Given the description of an element on the screen output the (x, y) to click on. 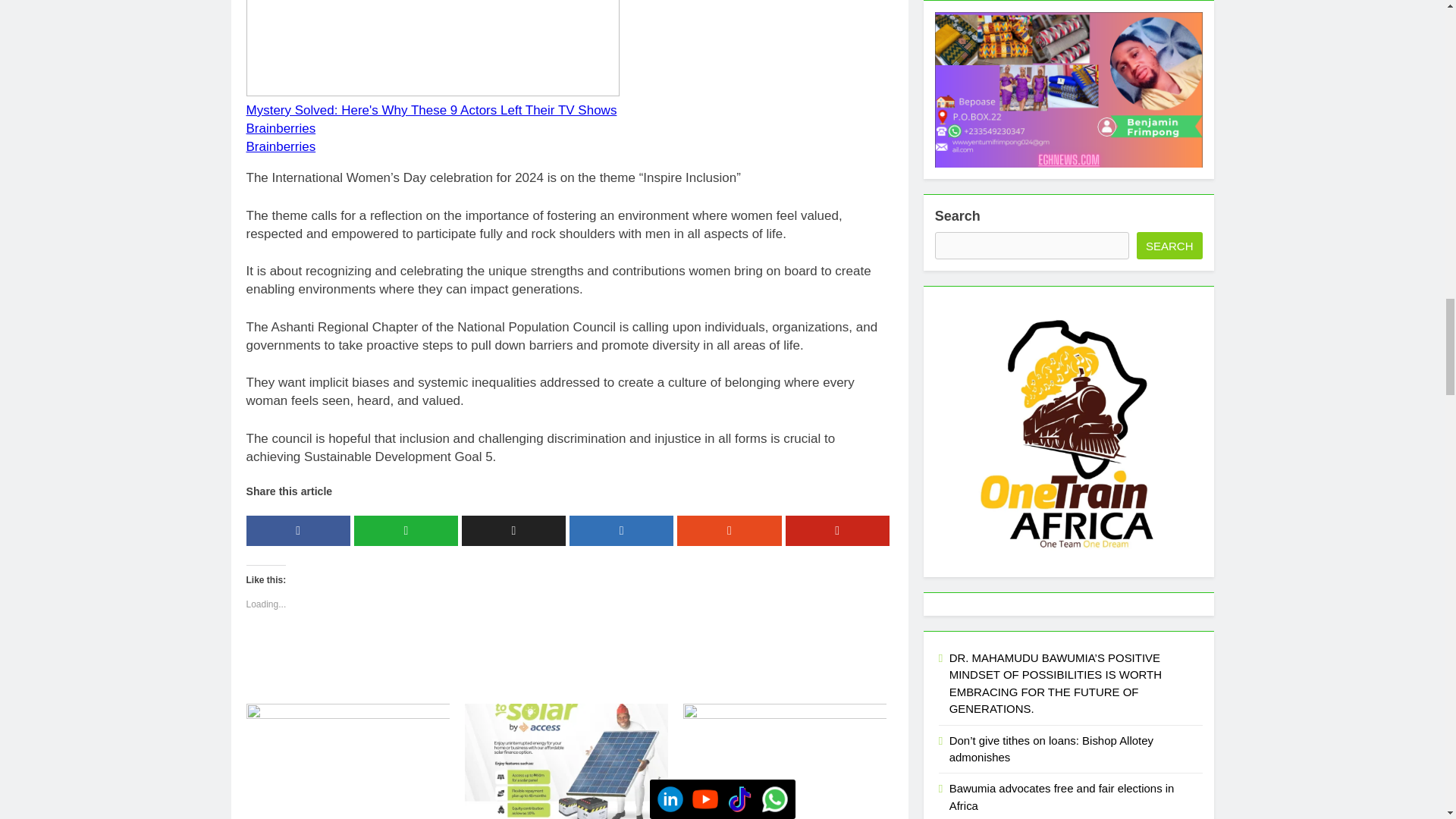
Gunmen abduct 30 women escorting newlywed bride in Katsina (347, 761)
Access Bank unveils Switch-To-Solar campaign (566, 761)
Like or Reblog (569, 657)
